Given the description of an element on the screen output the (x, y) to click on. 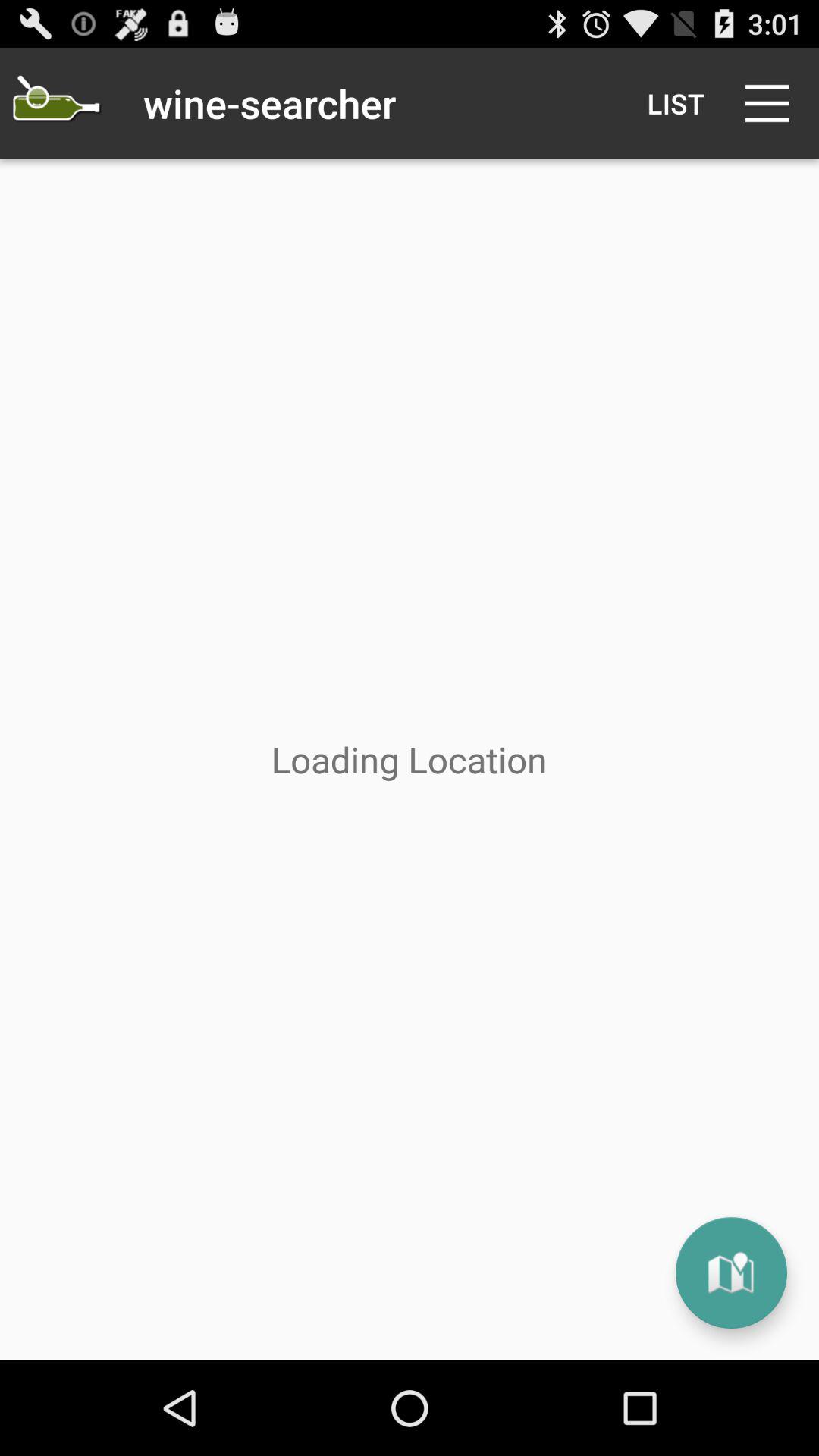
tap the list item (675, 103)
